Given the description of an element on the screen output the (x, y) to click on. 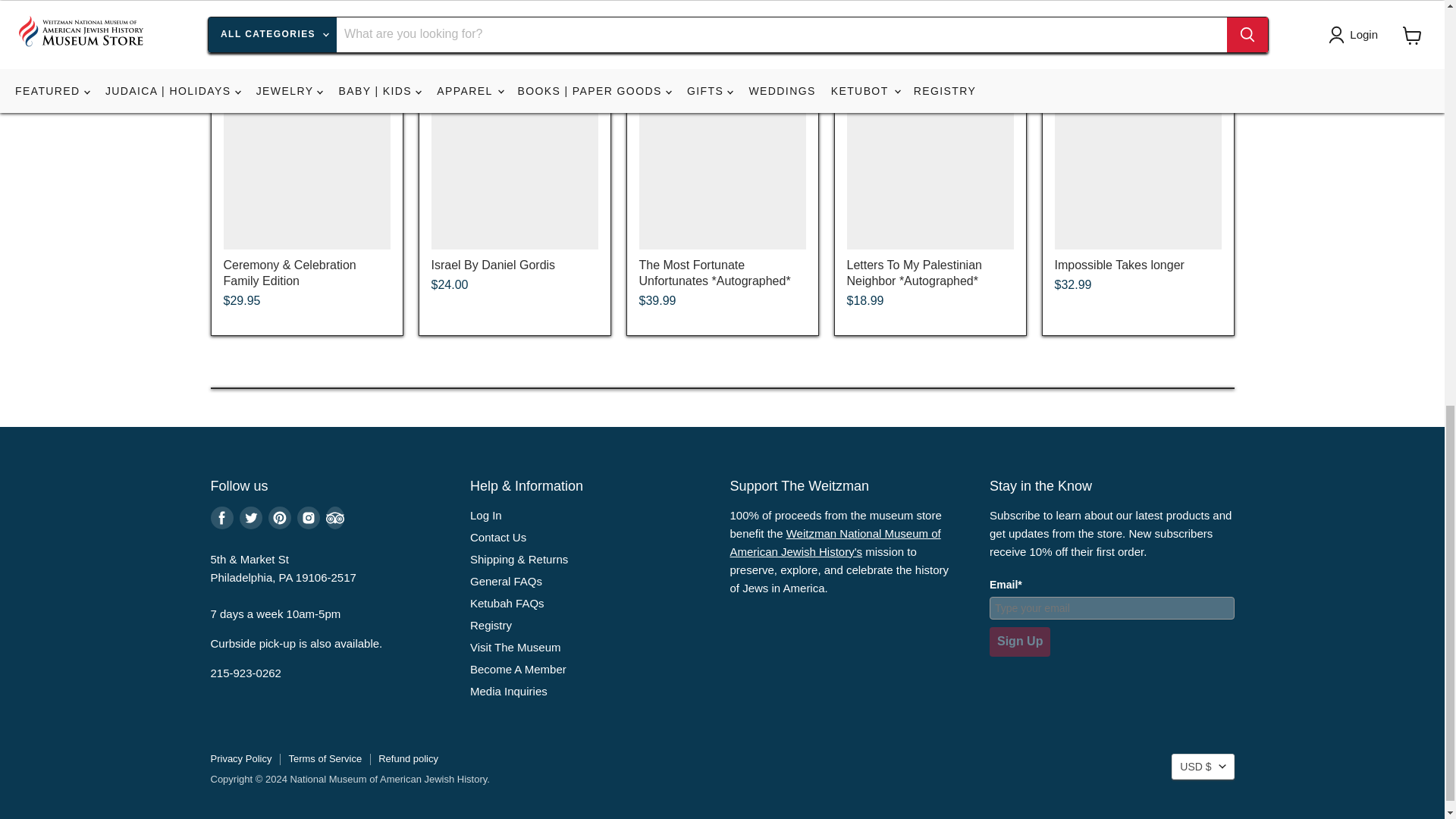
Instagram (308, 517)
Facebook (221, 517)
Twitter (251, 517)
Pinterest (279, 517)
tel:2159230262 (246, 672)
